Given the description of an element on the screen output the (x, y) to click on. 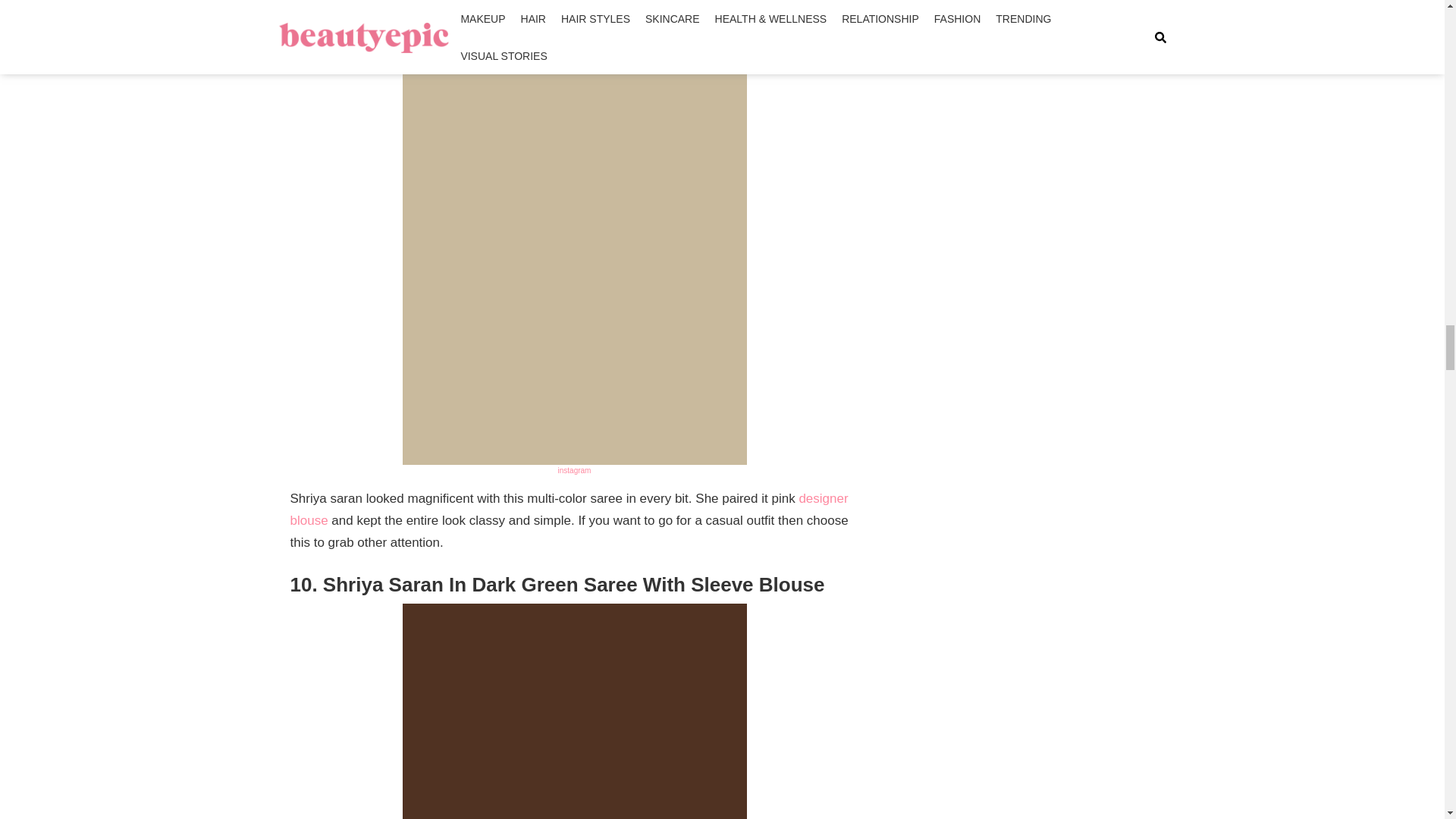
designer blouse (568, 509)
